Given the description of an element on the screen output the (x, y) to click on. 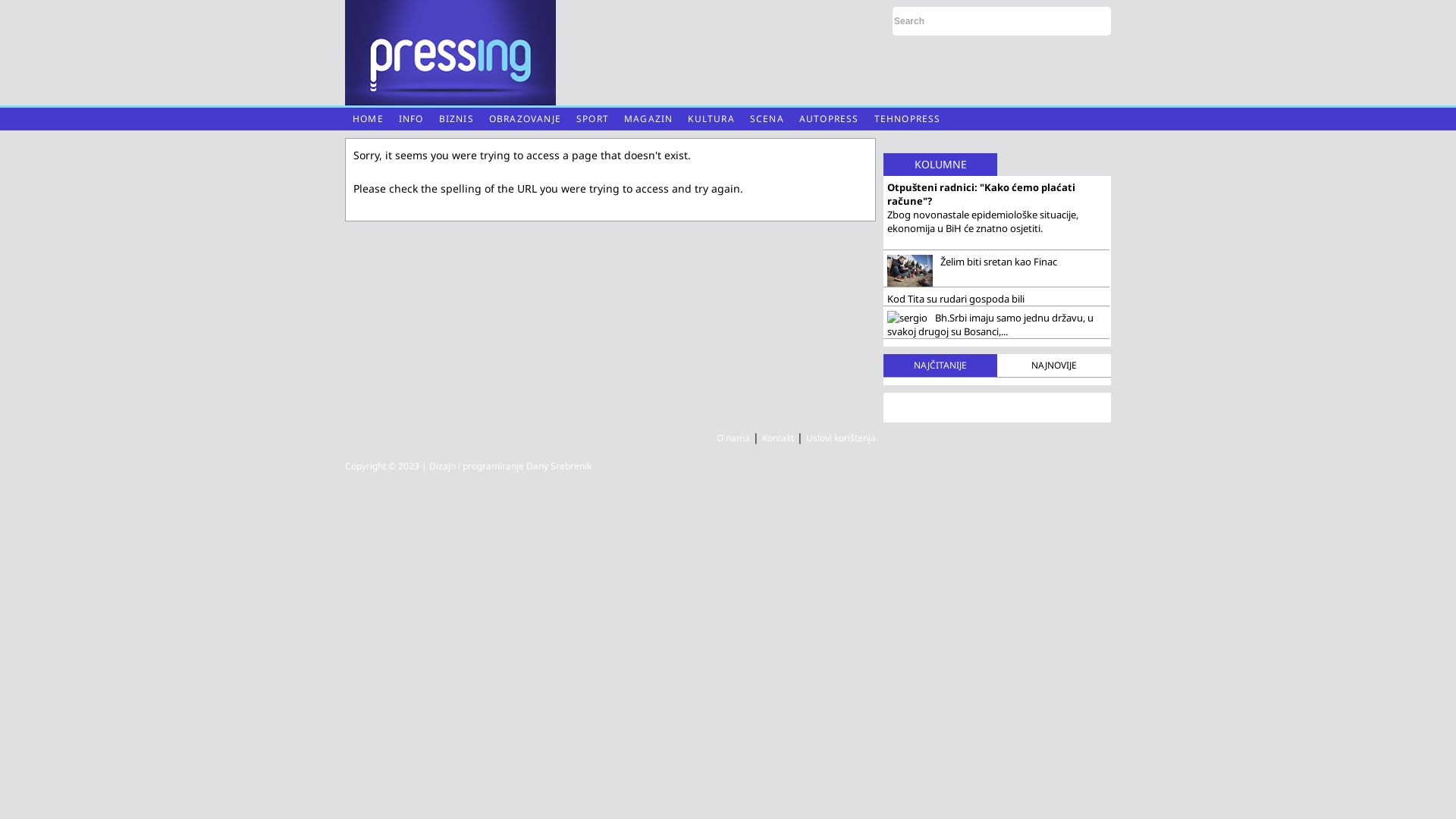
HOME Element type: text (368, 118)
KULTURA Element type: text (710, 118)
Dany Srebrenik Element type: text (558, 465)
Go Element type: text (1094, 21)
BIZNIS Element type: text (456, 118)
Kontakt Element type: text (777, 437)
INFO Element type: text (411, 118)
TEHNOPRESS Element type: text (907, 118)
SPORT Element type: text (592, 118)
MAGAZIN Element type: text (648, 118)
OBRAZOVANJE Element type: text (524, 118)
Kod Tita su rudari gospoda bili Element type: text (996, 298)
AUTOPRESS Element type: text (828, 118)
O nama Element type: text (732, 437)
SCENA Element type: text (766, 118)
